Given the description of an element on the screen output the (x, y) to click on. 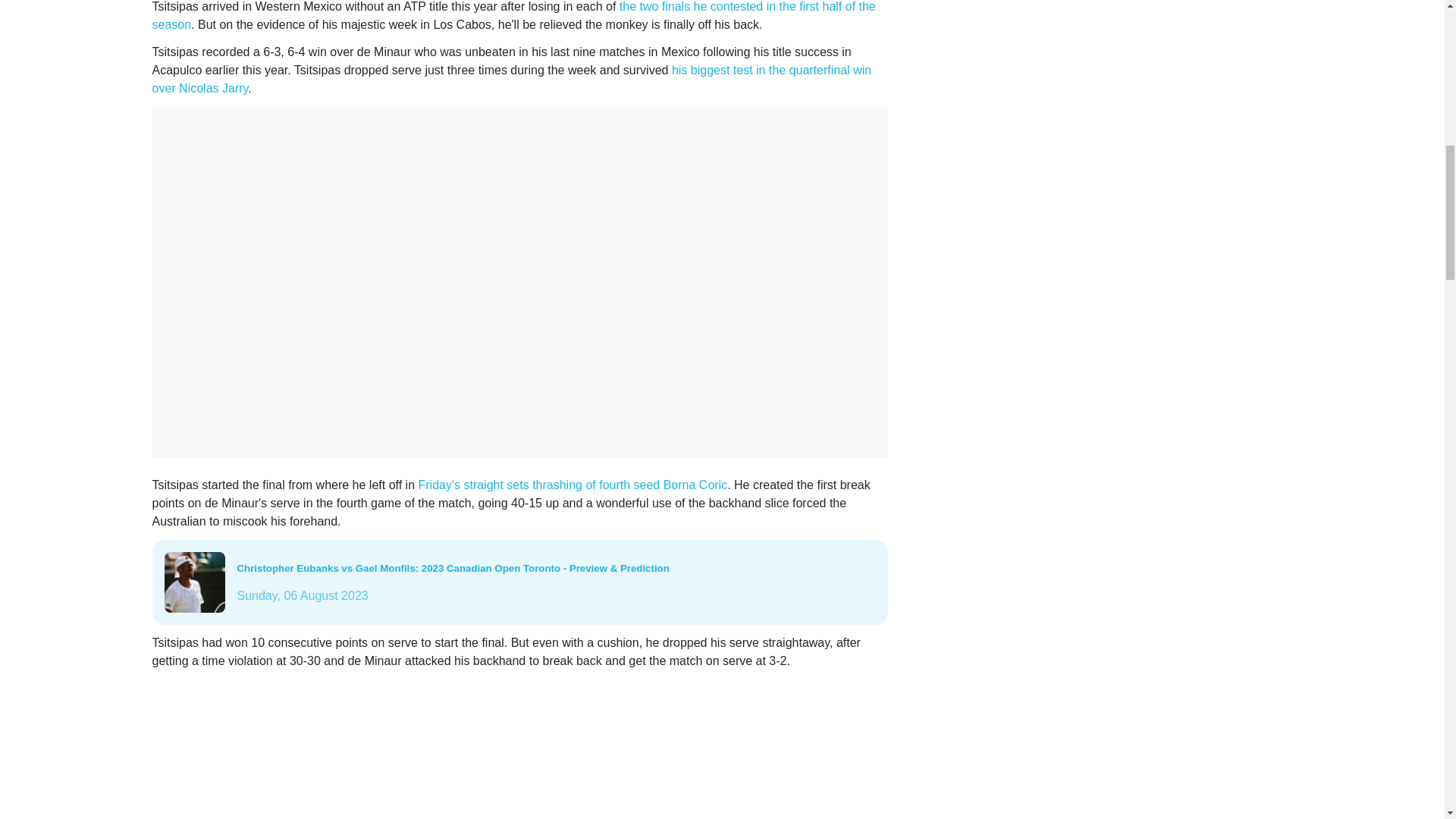
the two finals he contested in the first half of the season (513, 15)
Friday's straight sets thrashing of fourth seed Borna Coric (571, 484)
his biggest test in the quarterfinal win over Nicolas Jarry (510, 79)
